Given the description of an element on the screen output the (x, y) to click on. 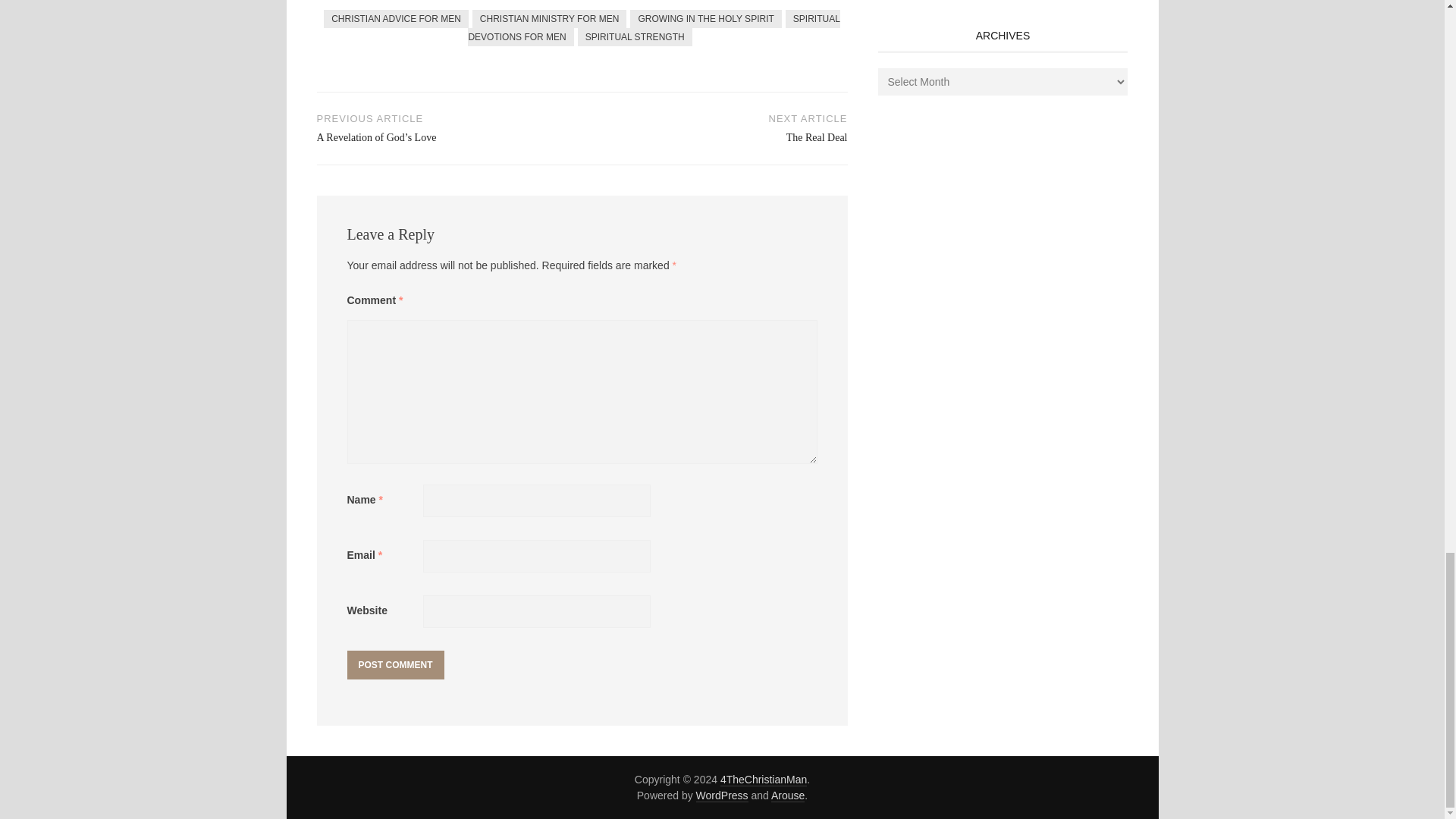
Post Comment (395, 664)
CHRISTIAN MINISTRY FOR MEN (549, 18)
Arouse WordPress Theme (788, 795)
Post Comment (395, 664)
SPIRITUAL STRENGTH (635, 36)
SPIRITUAL DEVOTIONS FOR MEN (653, 27)
GROWING IN THE HOLY SPIRIT (705, 18)
4TheChristianMan (763, 779)
WordPress (721, 795)
CHRISTIAN ADVICE FOR MEN (395, 18)
